Given the description of an element on the screen output the (x, y) to click on. 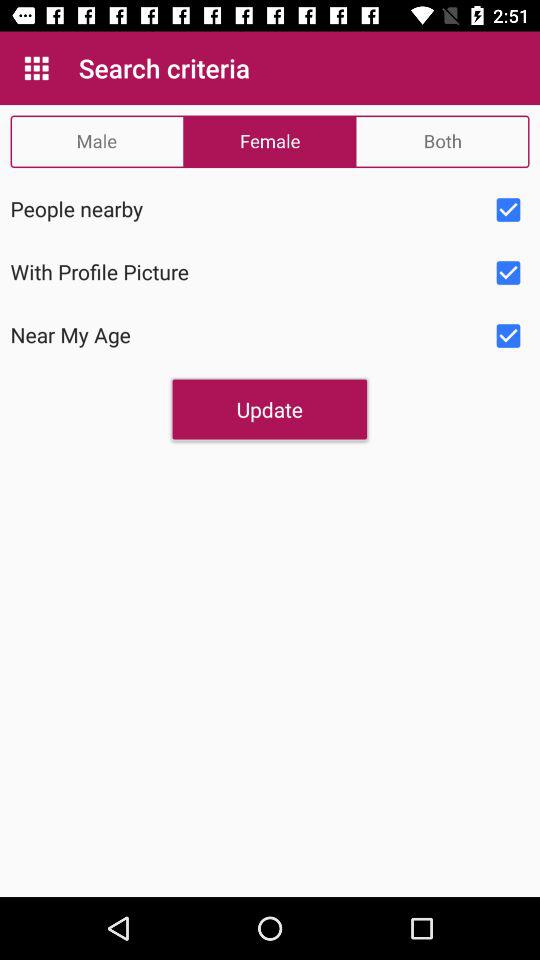
go to selecet option (508, 336)
